Given the description of an element on the screen output the (x, y) to click on. 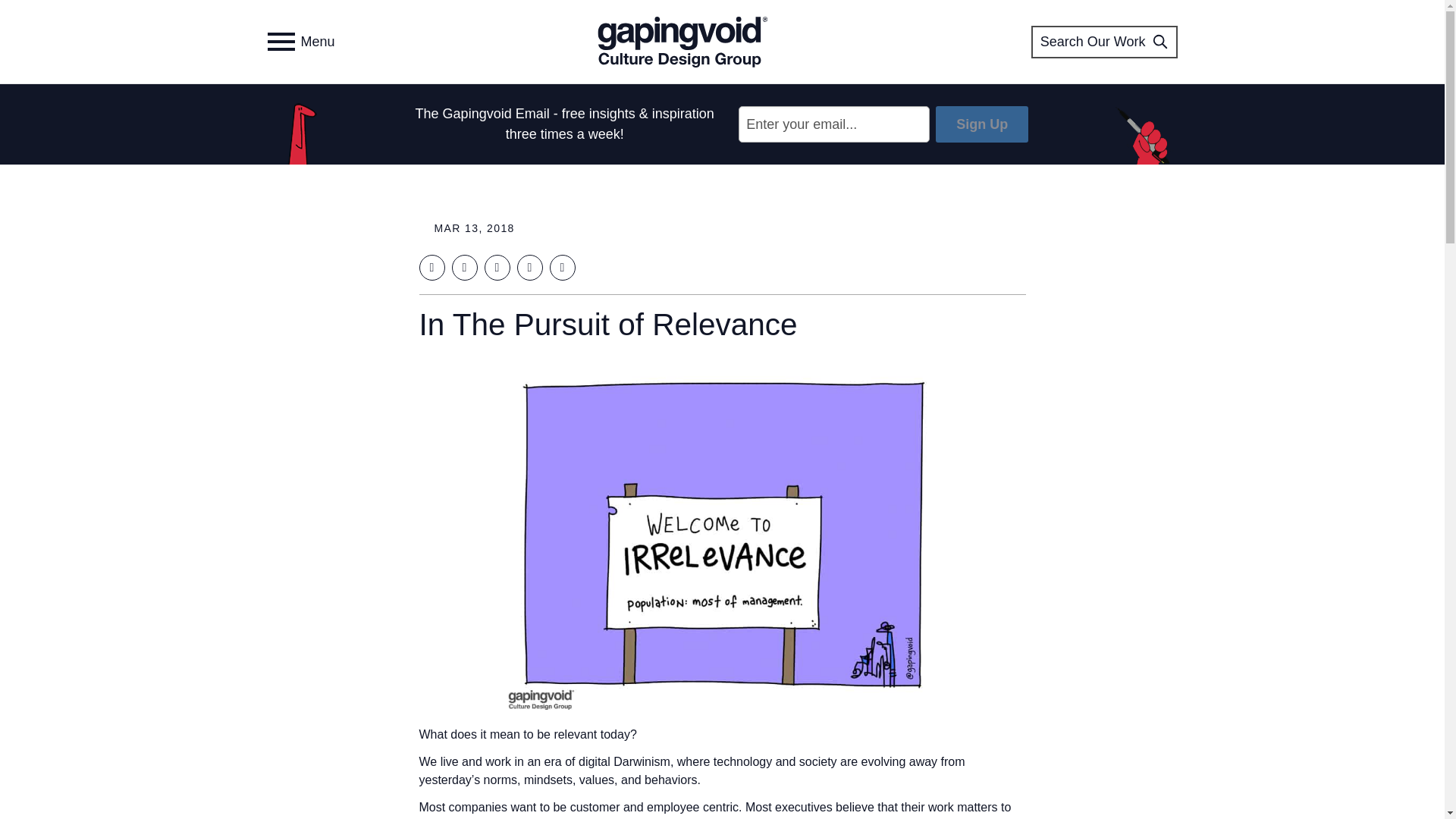
Gapingvoid (682, 41)
Tweet this ! (464, 267)
Email this  (561, 267)
Share this on Facebook (431, 267)
Submit this to Pinterest (529, 267)
Sign Up (981, 124)
Sign Up (981, 124)
Enter your email... (834, 124)
Add this to LinkedIn (496, 267)
